Given the description of an element on the screen output the (x, y) to click on. 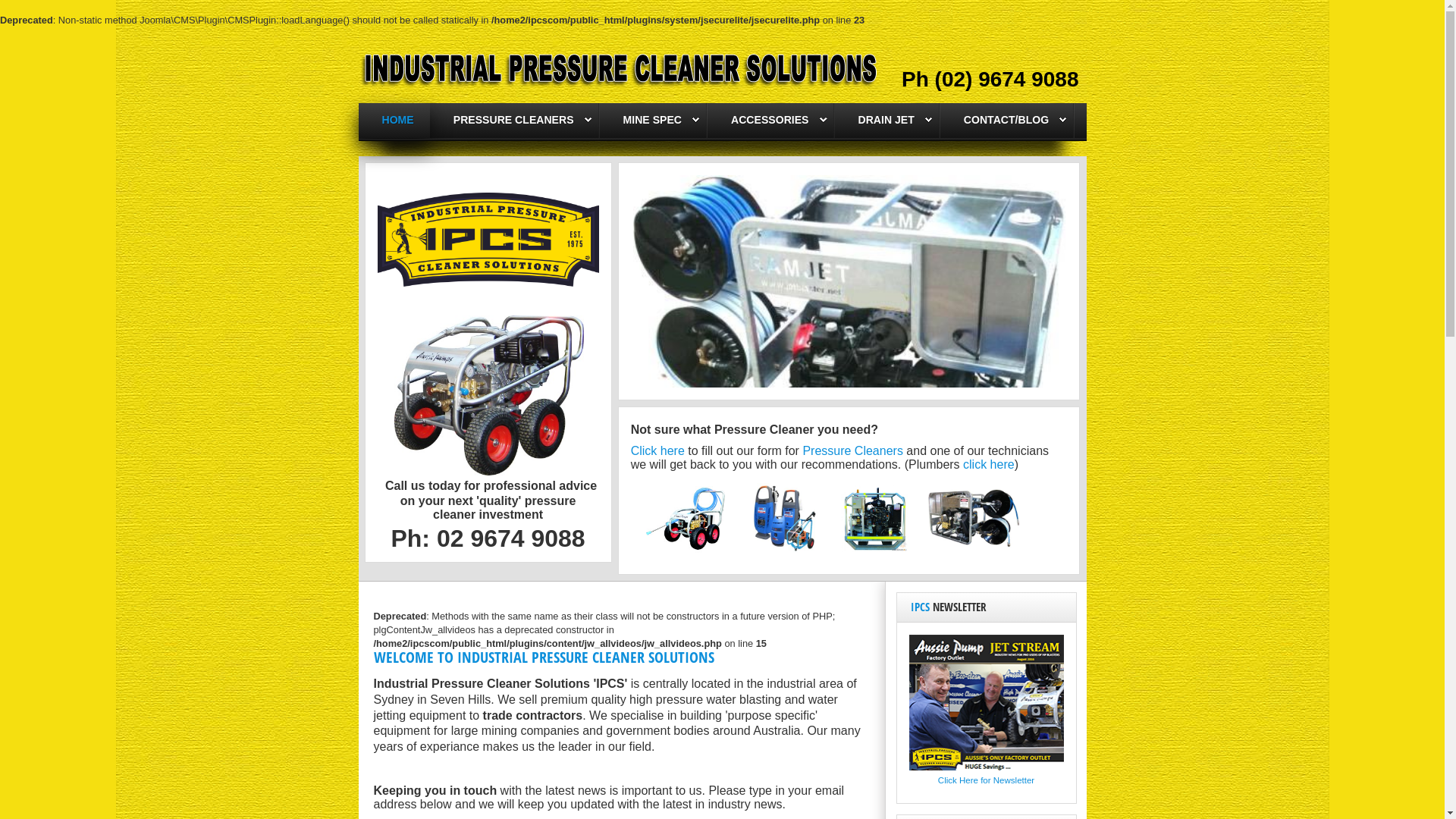
DRAIN JET Element type: text (886, 119)
CONTACT/BLOG Element type: text (1006, 120)
Click Here for Newsletter Element type: text (986, 779)
PRESSURE CLEANERS Element type: text (513, 119)
PRESSURE CLEANERS Element type: text (514, 120)
HOME Element type: text (393, 120)
DRAIN JET Element type: text (886, 120)
MINE SPEC Element type: text (653, 120)
click here Element type: text (988, 464)
ACCESSORIES Element type: text (770, 120)
CONTACT/BLOG Element type: text (1005, 119)
ACCESSORIES Element type: text (769, 119)
Click here Element type: text (657, 450)
MINE SPEC Element type: text (652, 119)
HOME Element type: text (398, 119)
Pressure Cleaners Element type: text (852, 450)
